Given the description of an element on the screen output the (x, y) to click on. 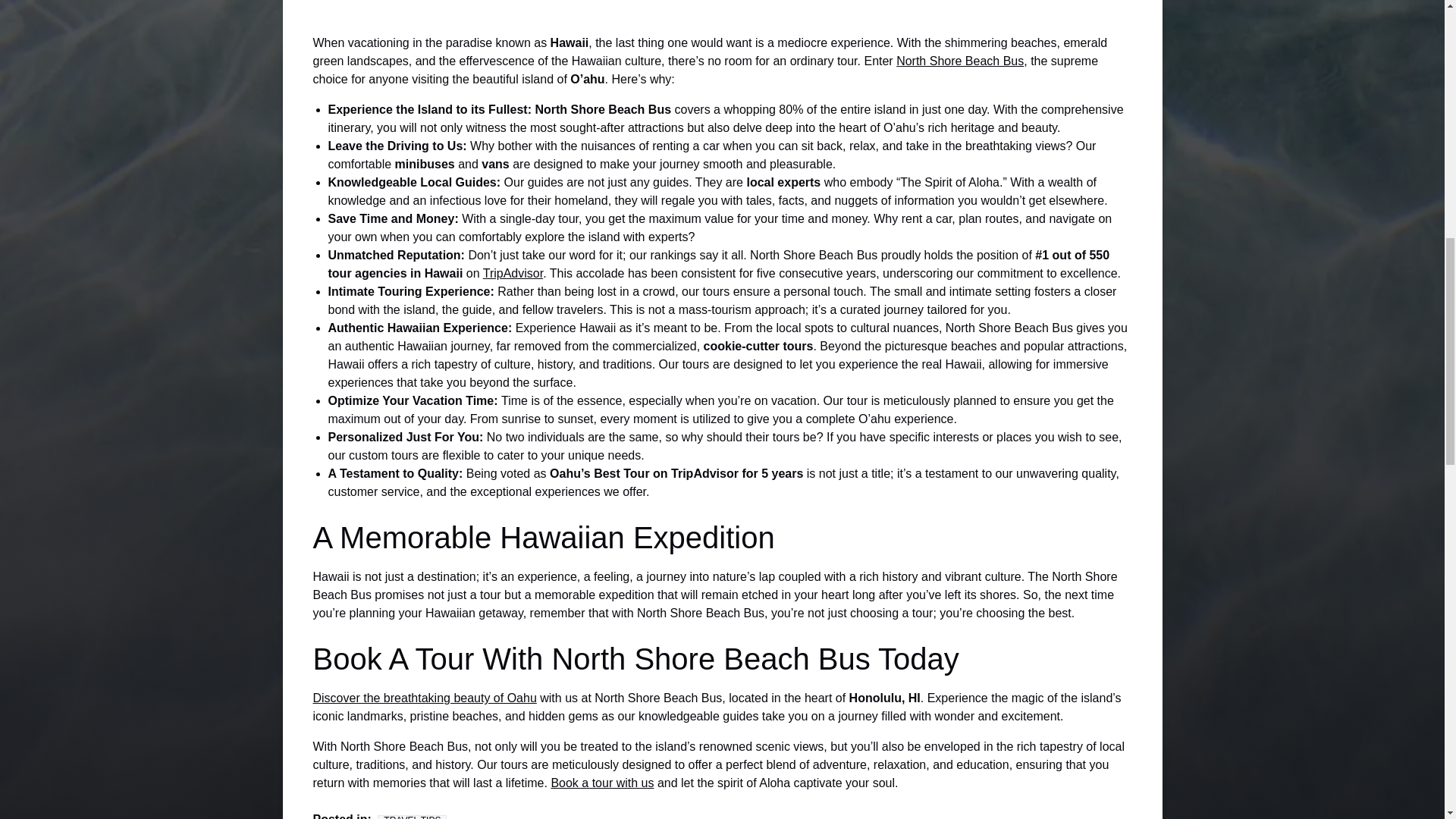
Travel tips (411, 816)
North Shore Beach Bus (959, 60)
TripAdvisor (513, 273)
Book a tour with us (601, 782)
Discover the breathtaking beauty of Oahu (424, 697)
TRAVEL TIPS (411, 816)
